Given the description of an element on the screen output the (x, y) to click on. 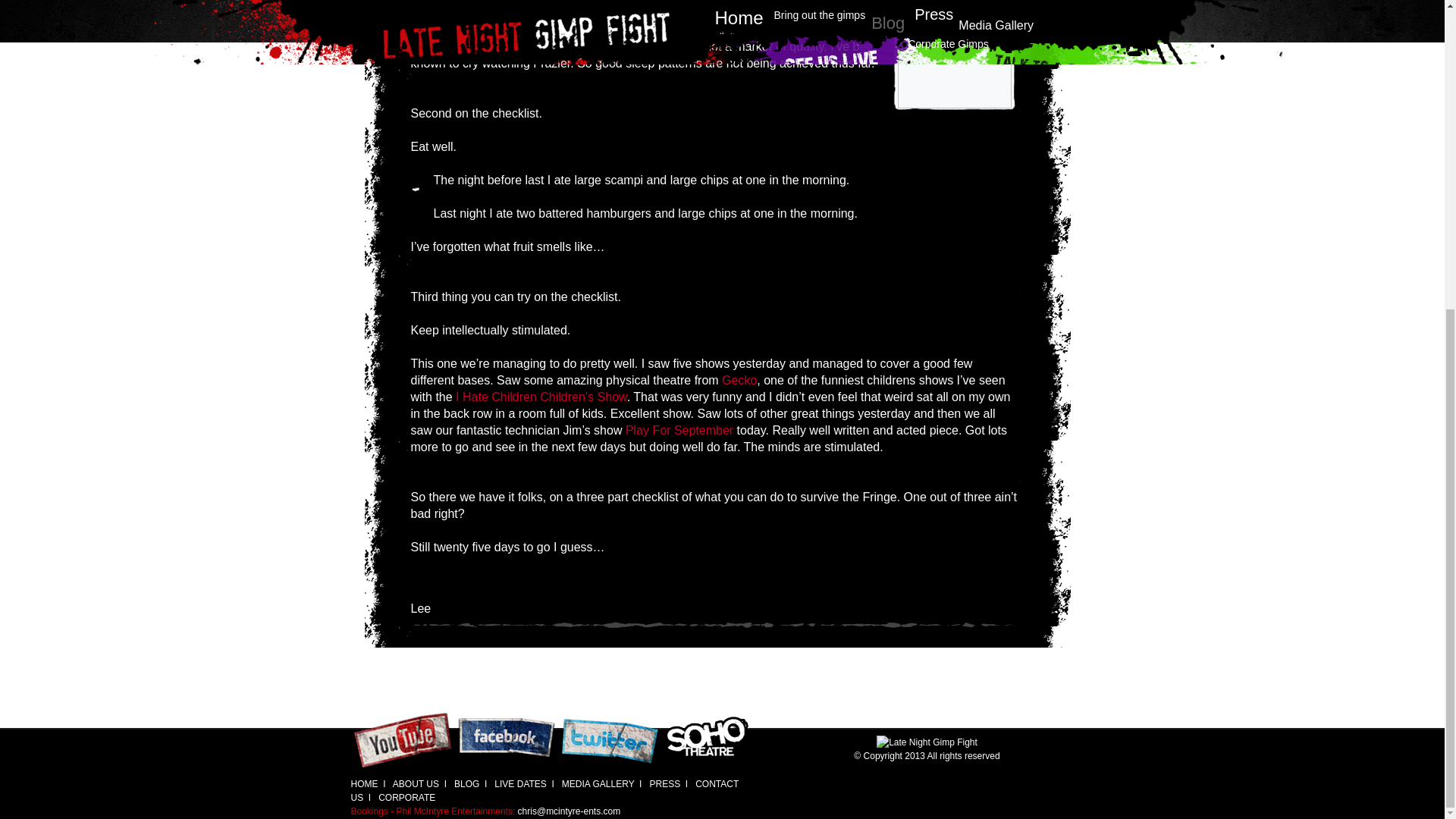
Media Gallery (598, 783)
Press (664, 783)
BLOG (466, 783)
Play For September (679, 430)
Home (363, 783)
Press (466, 783)
Gecko (739, 379)
Live Dates (520, 783)
HOME (363, 783)
CORPORATE (406, 797)
